Given the description of an element on the screen output the (x, y) to click on. 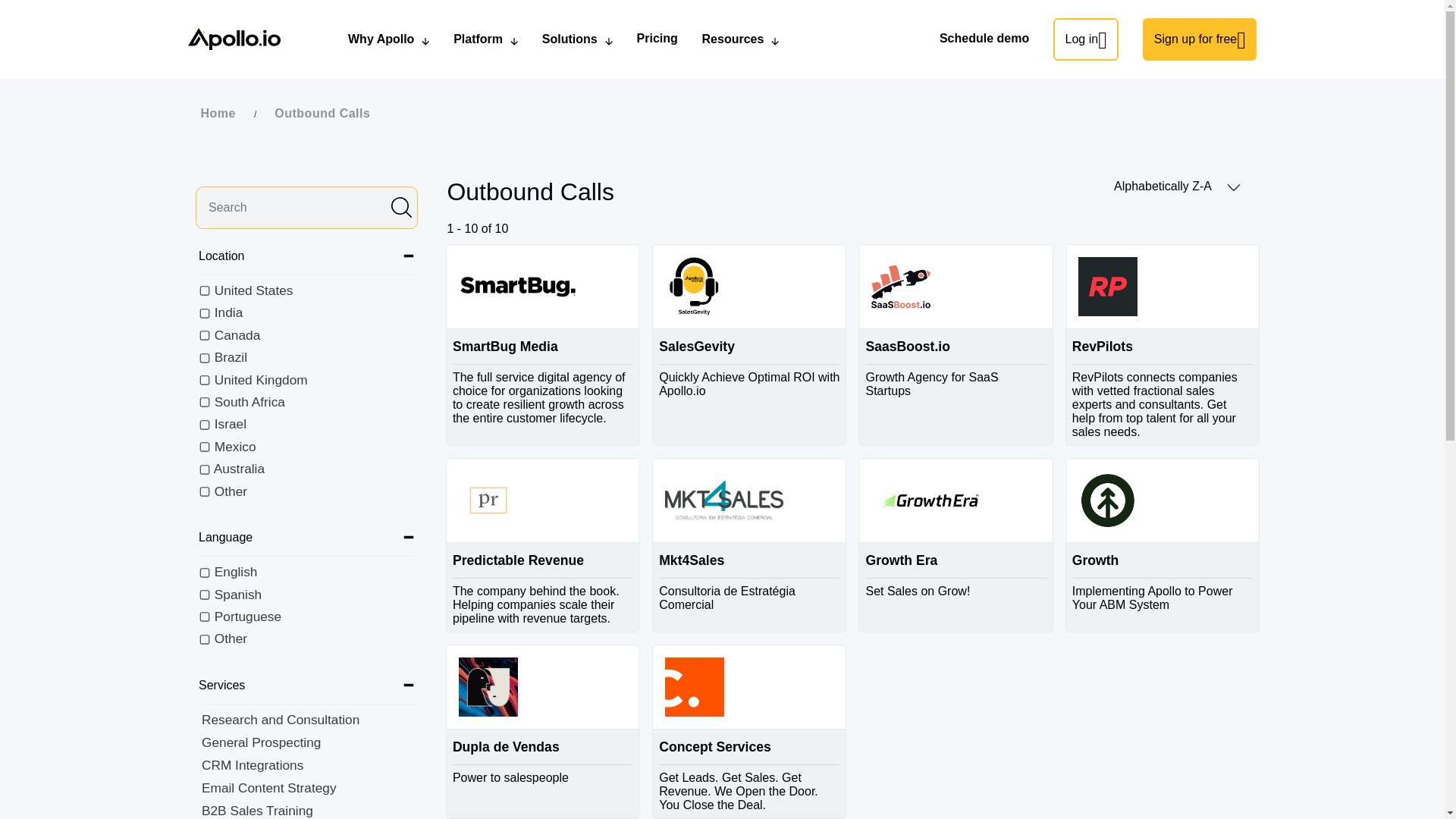
Log in (1085, 39)
Solutions (576, 39)
Platform (485, 39)
Schedule demo (984, 39)
arrow-right icon (1233, 187)
search icon (401, 207)
Pricing (657, 39)
Resources (739, 39)
Why Apollo (388, 39)
Sign up for free (1199, 39)
